Given the description of an element on the screen output the (x, y) to click on. 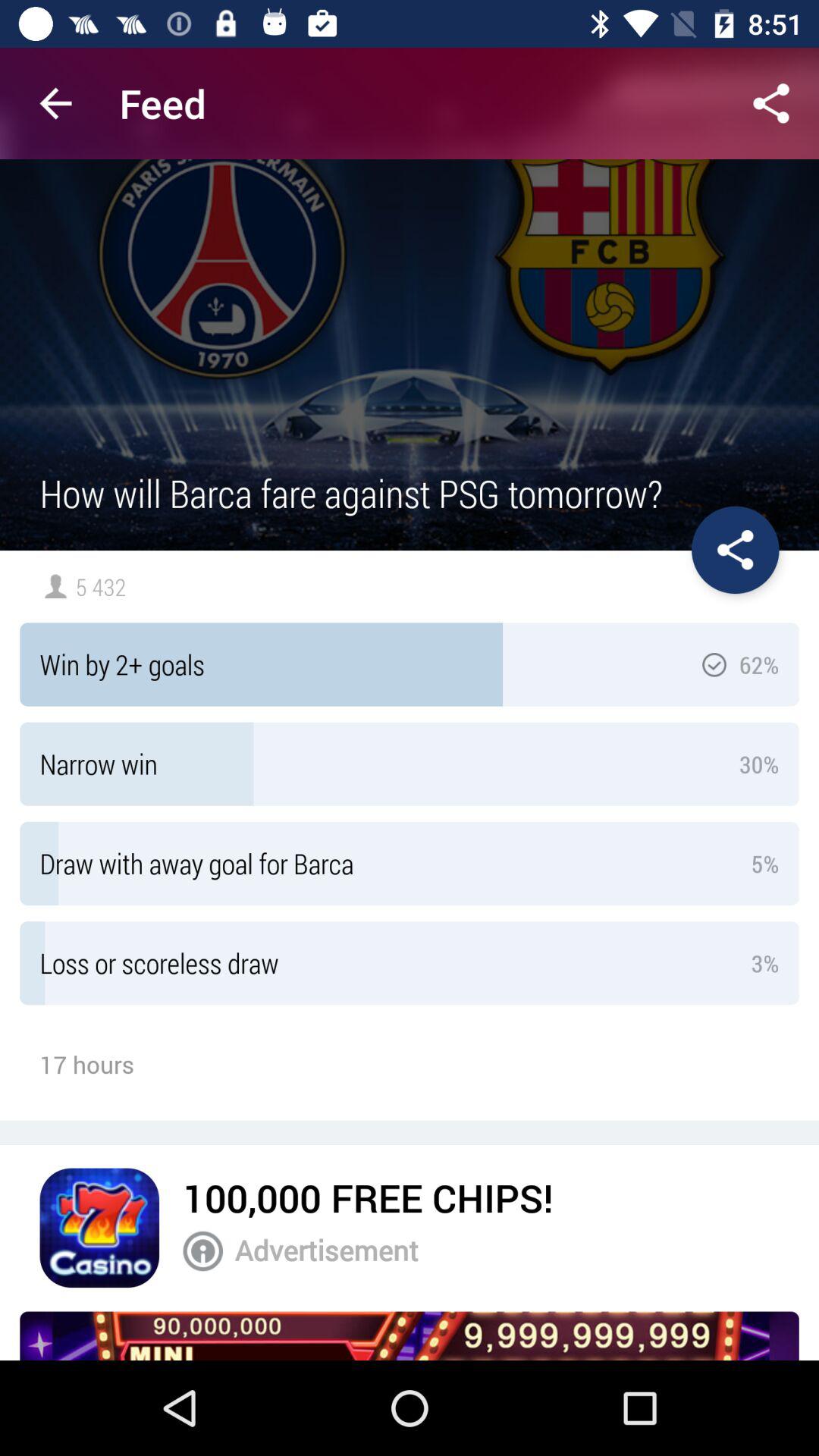
tap to view (409, 1335)
